Given the description of an element on the screen output the (x, y) to click on. 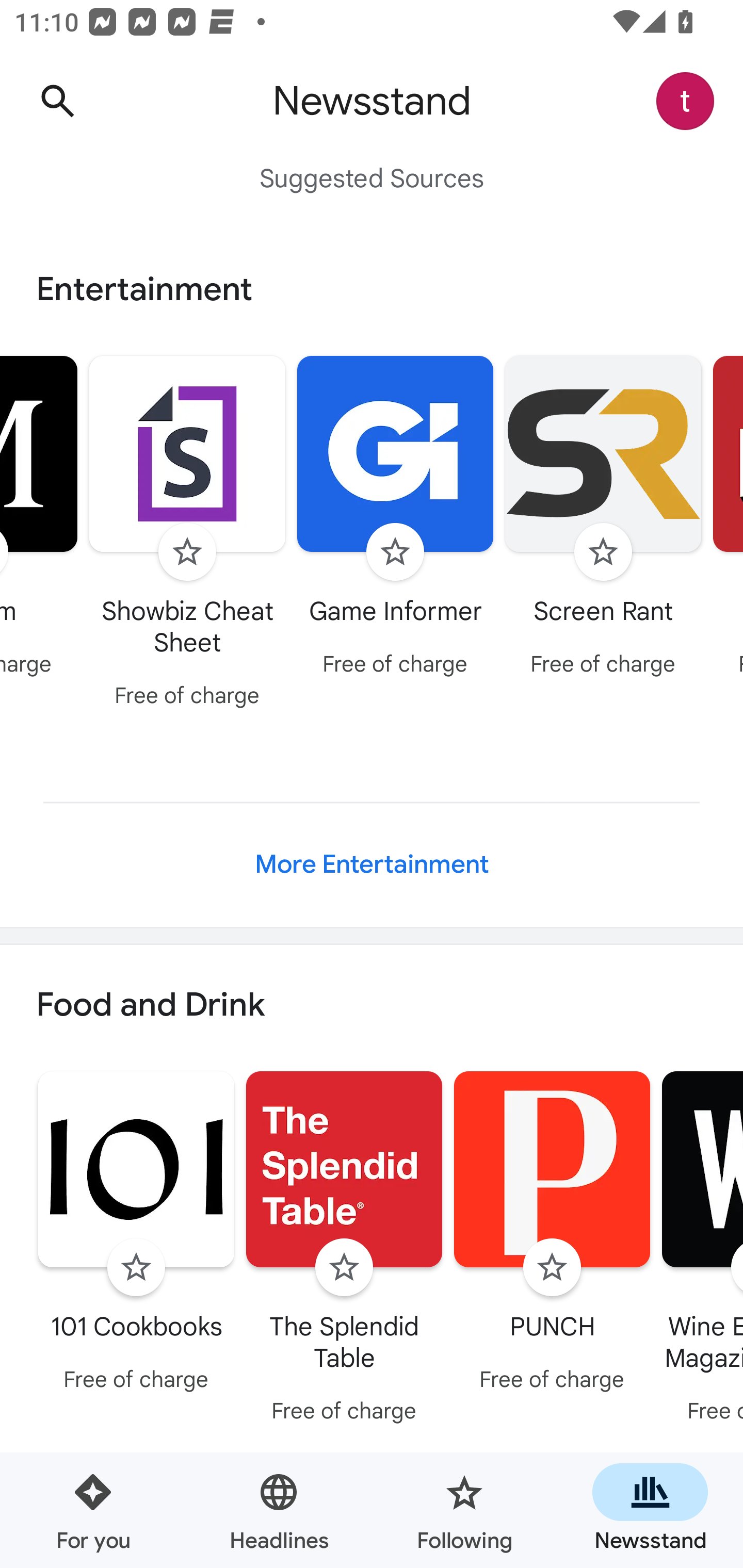
Search (57, 100)
Entertainment (371, 288)
Follow Showbiz Cheat Sheet Free of charge (187, 534)
Follow Game Informer Free of charge (395, 517)
Follow Screen Rant Free of charge (603, 517)
Follow (187, 551)
Follow (395, 551)
Follow (603, 551)
More Entertainment (371, 864)
Food and Drink (371, 1005)
Follow 101 Cookbooks Free of charge (136, 1234)
Follow The Splendid Table Free of charge (344, 1250)
Follow PUNCH Free of charge (552, 1234)
Follow (135, 1267)
Follow (343, 1267)
Follow (552, 1267)
For you (92, 1509)
Headlines (278, 1509)
Following (464, 1509)
Newsstand (650, 1509)
